Given the description of an element on the screen output the (x, y) to click on. 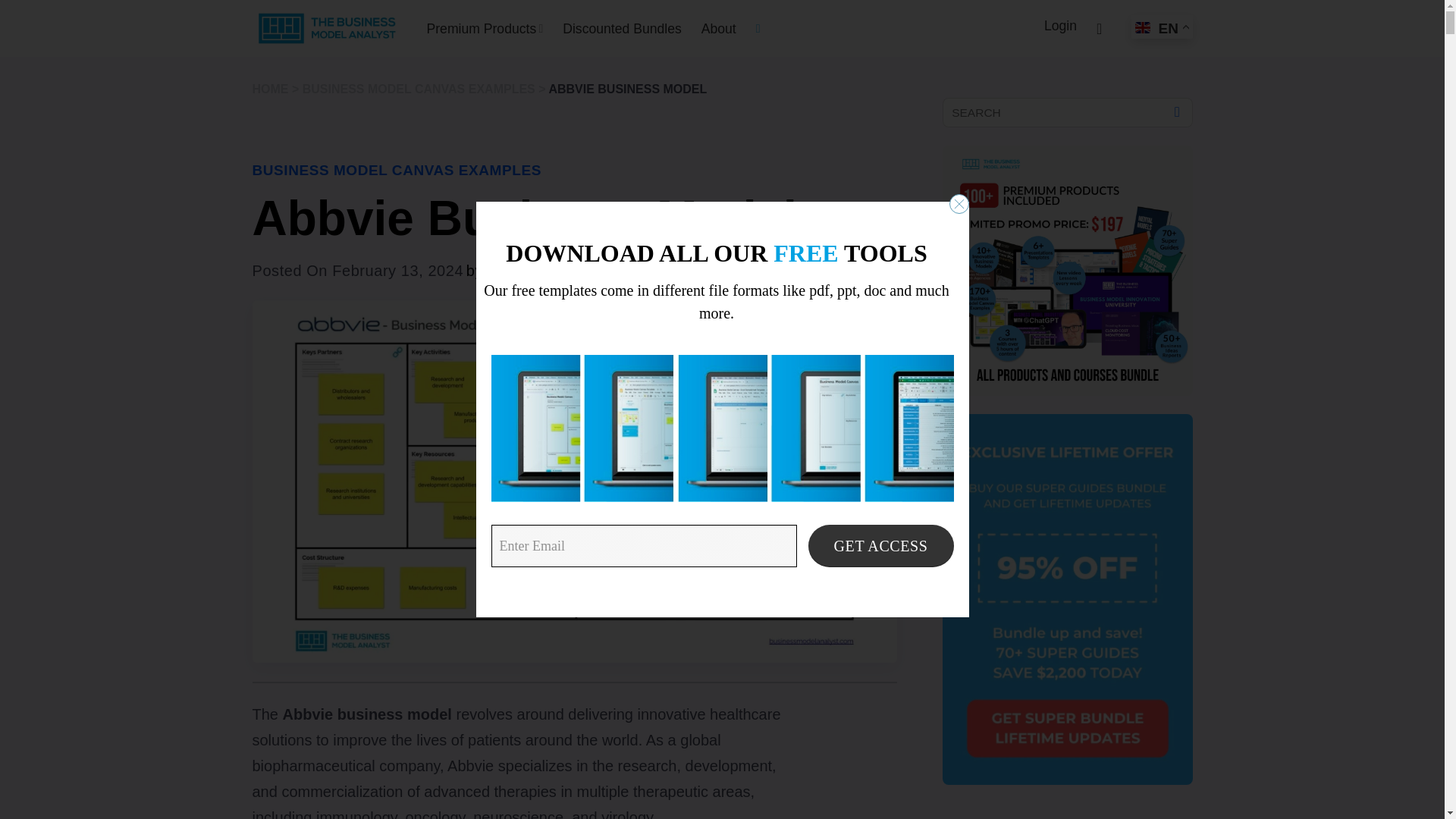
HOME (269, 88)
Premium Products (484, 28)
February 13, 2024 (397, 270)
Login (1060, 25)
Discounted Bundles (621, 28)
BUSINESS MODEL CANVAS EXAMPLES (395, 170)
BUSINESS MODEL CANVAS EXAMPLES (418, 88)
About (718, 28)
Daniel Pereira (538, 270)
Login (1060, 25)
